Given the description of an element on the screen output the (x, y) to click on. 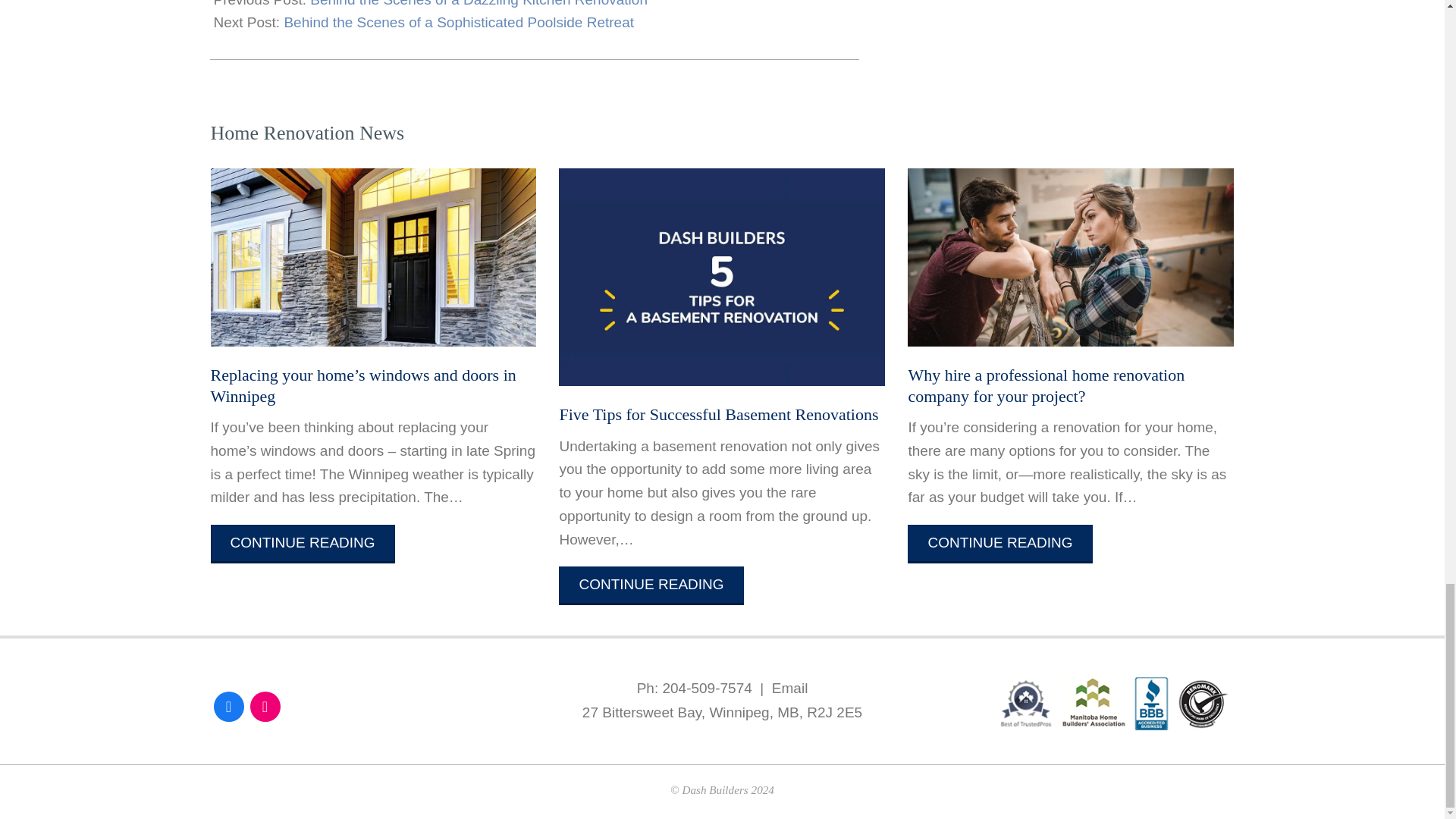
Behind the Scenes of a Dazzling Kitchen Renovation (478, 3)
Behind the Scenes of a Sophisticated Poolside Retreat (458, 22)
